Given the description of an element on the screen output the (x, y) to click on. 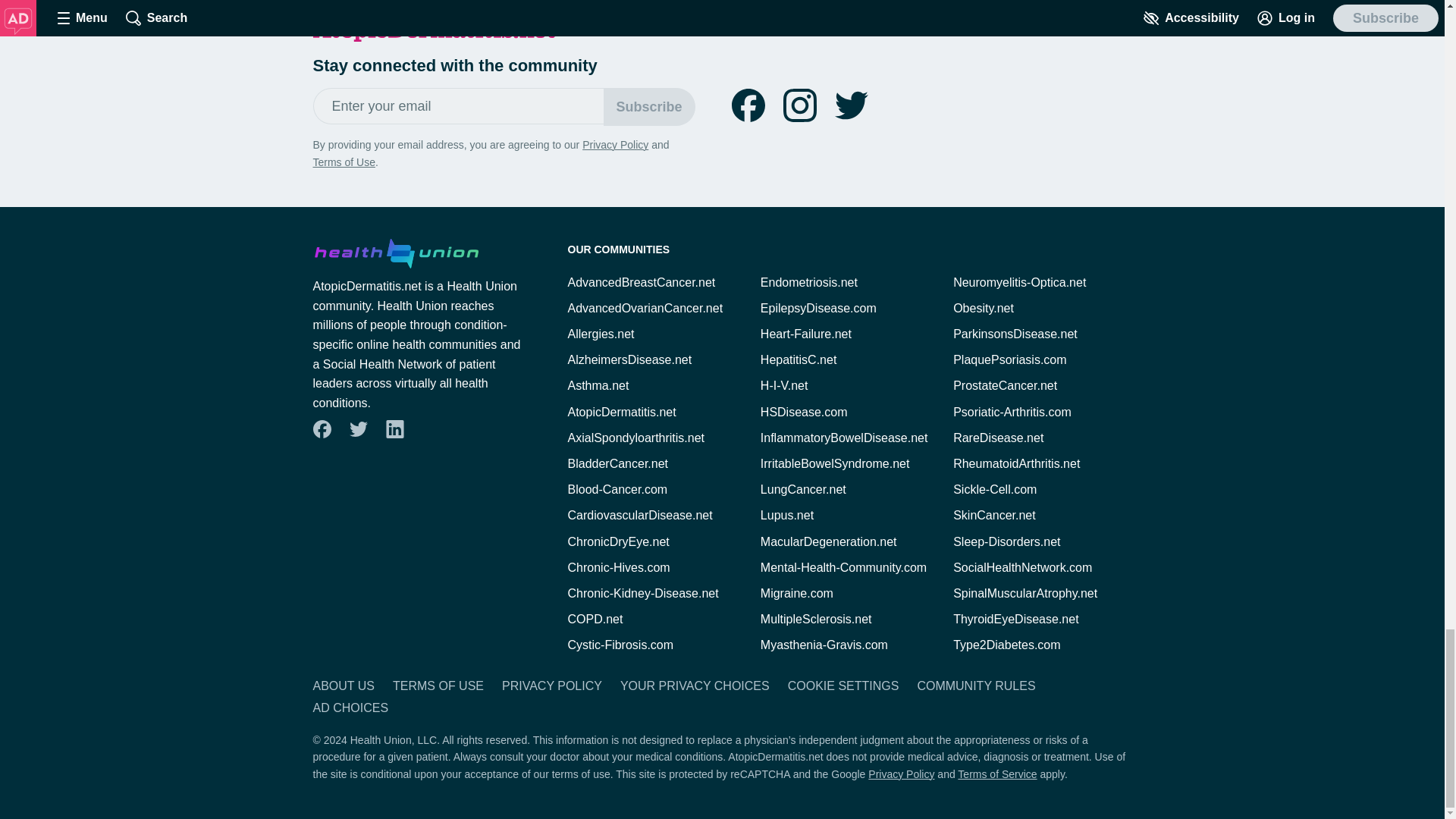
Follow us on twitter (850, 105)
Follow us on twitter (850, 105)
Follow us on twitter (357, 429)
Follow us on instagram (799, 105)
Follow us on facebook (747, 105)
Follow us on facebook (747, 105)
Terms of Use (343, 162)
Privacy Policy (614, 144)
Follow us on facebook (321, 429)
Subscribe (649, 106)
Follow us on instagram (799, 105)
